Given the description of an element on the screen output the (x, y) to click on. 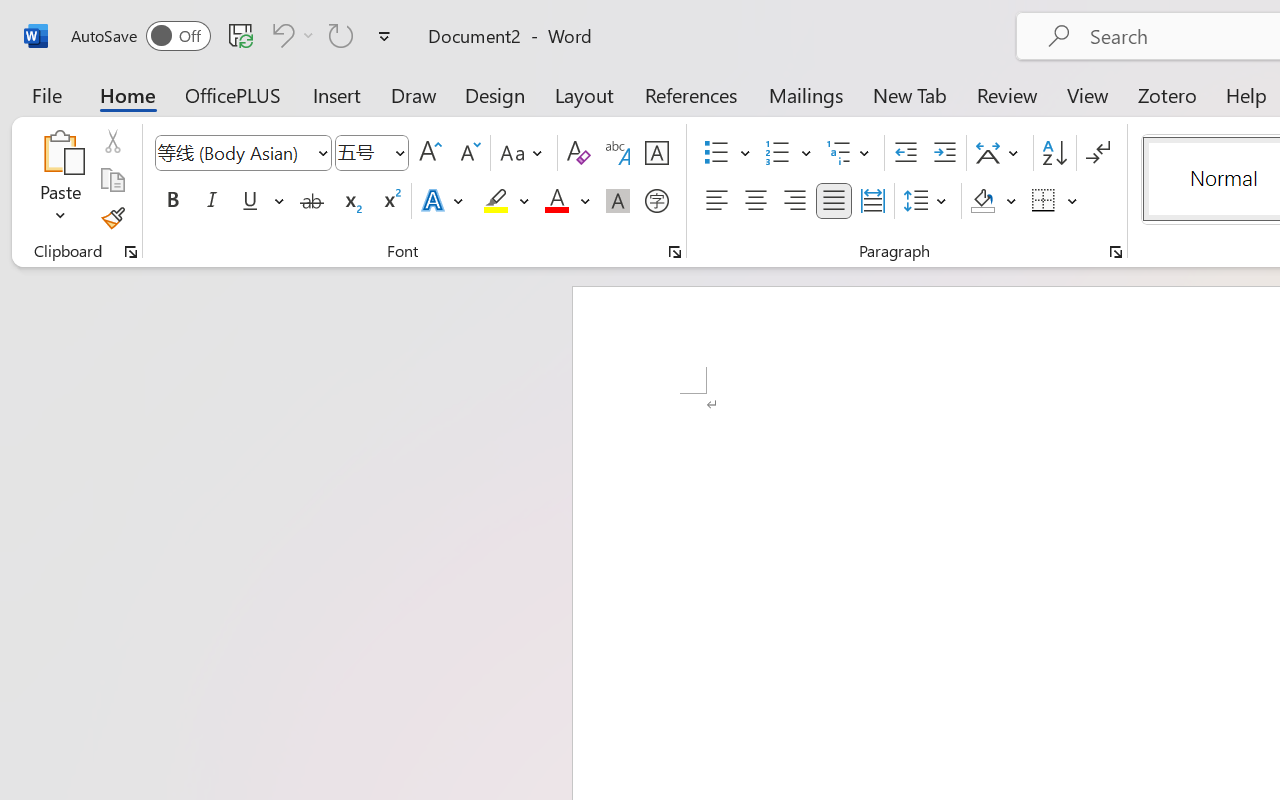
Enclose Characters... (656, 201)
Justify (834, 201)
Font (242, 153)
New Tab (909, 94)
Font... (675, 252)
Quick Access Toolbar (233, 36)
Clear Formatting (578, 153)
Strikethrough (312, 201)
Phonetic Guide... (618, 153)
Asian Layout (1000, 153)
Font Color (567, 201)
Mailings (806, 94)
Character Shading (618, 201)
